Given the description of an element on the screen output the (x, y) to click on. 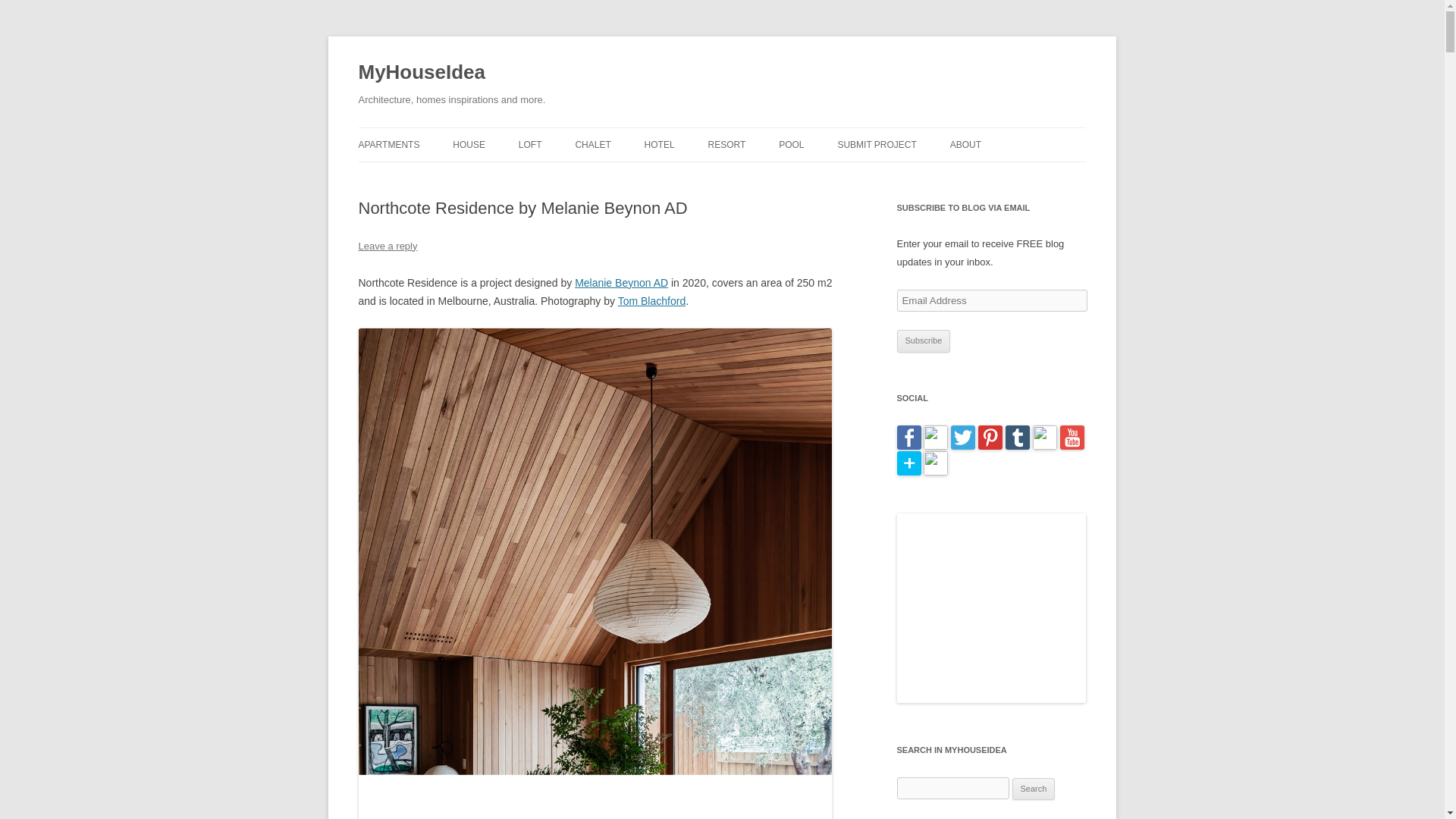
SUBMIT PROJECT (876, 144)
Leave a reply (387, 245)
Bloglovin (908, 471)
Facebook (908, 445)
HOUSE (468, 144)
MyHouseIdea (421, 72)
Search (1033, 789)
Twitter (962, 445)
CHALET (592, 144)
Subscribe (923, 341)
Behance (1044, 445)
Instagram (935, 445)
ABOUT (965, 144)
MyHouseIdea (421, 72)
